Given the description of an element on the screen output the (x, y) to click on. 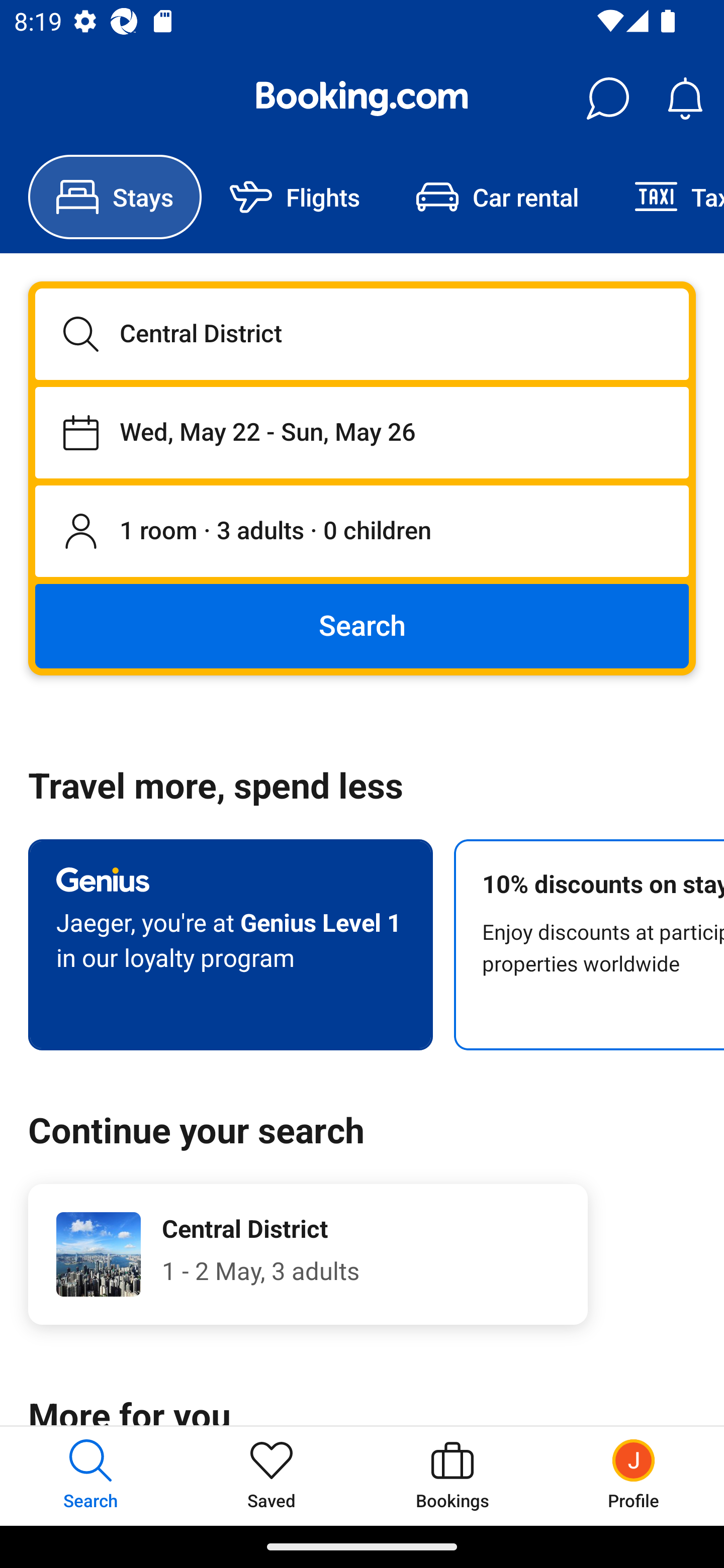
Messages (607, 98)
Notifications (685, 98)
Stays (114, 197)
Flights (294, 197)
Car rental (497, 197)
Taxi (665, 197)
Central District (361, 333)
Staying from Wed, May 22 until Sun, May 26 (361, 432)
1 room, 3 adults, 0 children (361, 531)
Search (361, 625)
Central District 1 - 2 May, 3 adults (307, 1253)
Saved (271, 1475)
Bookings (452, 1475)
Profile (633, 1475)
